Given the description of an element on the screen output the (x, y) to click on. 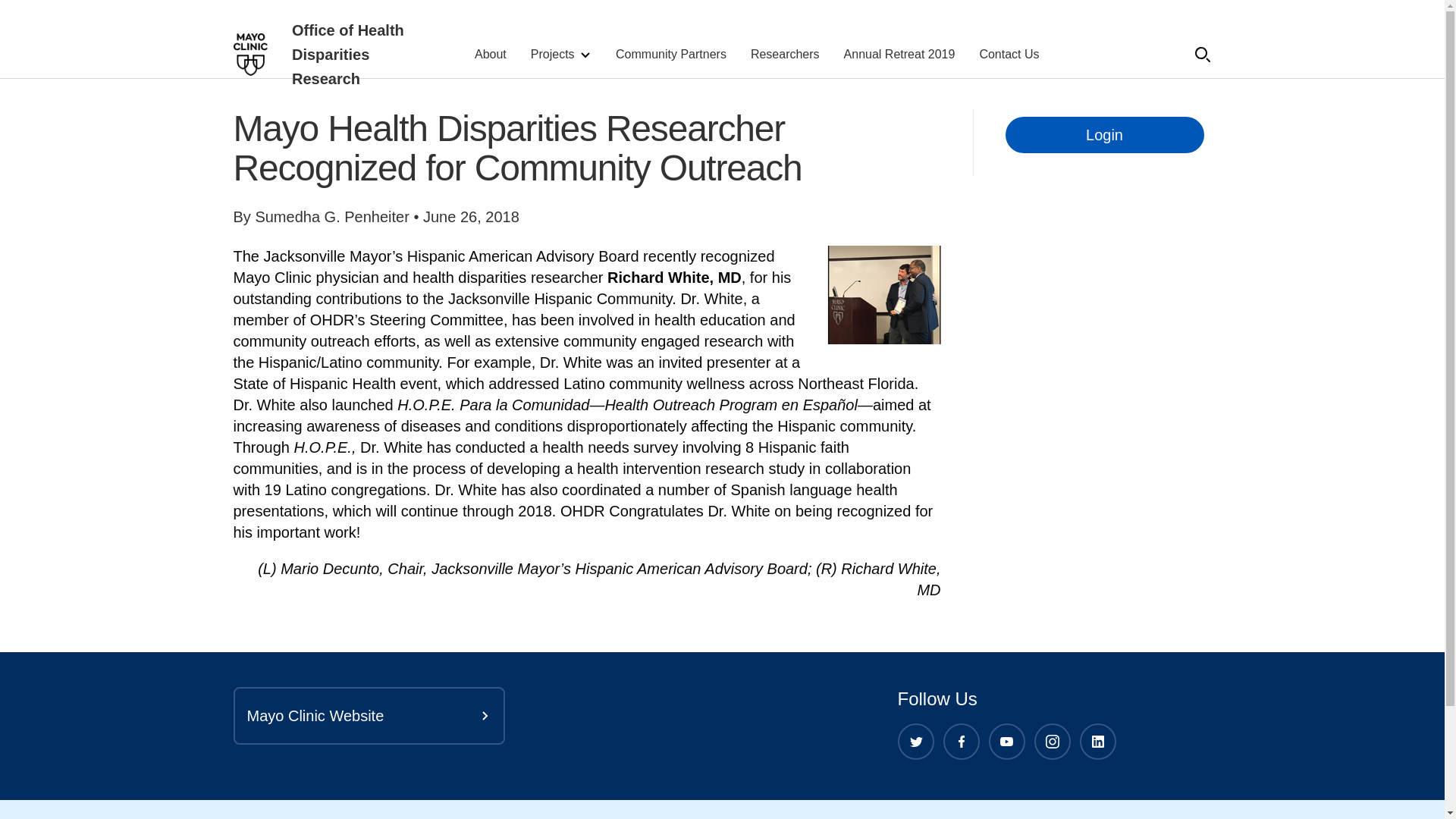
Annual Retreat 2019 (899, 54)
Login (1105, 135)
Contact Us (1008, 54)
Projects (561, 54)
About (490, 54)
Mayo Clinic Website (368, 715)
Community Partners (670, 54)
Community Partners (670, 54)
About (490, 54)
Office of Health Disparities Research (358, 54)
Annual Retreat 2019 (899, 54)
Projects (561, 54)
Researchers (785, 54)
Contact Us (1008, 54)
Researchers (785, 54)
